Given the description of an element on the screen output the (x, y) to click on. 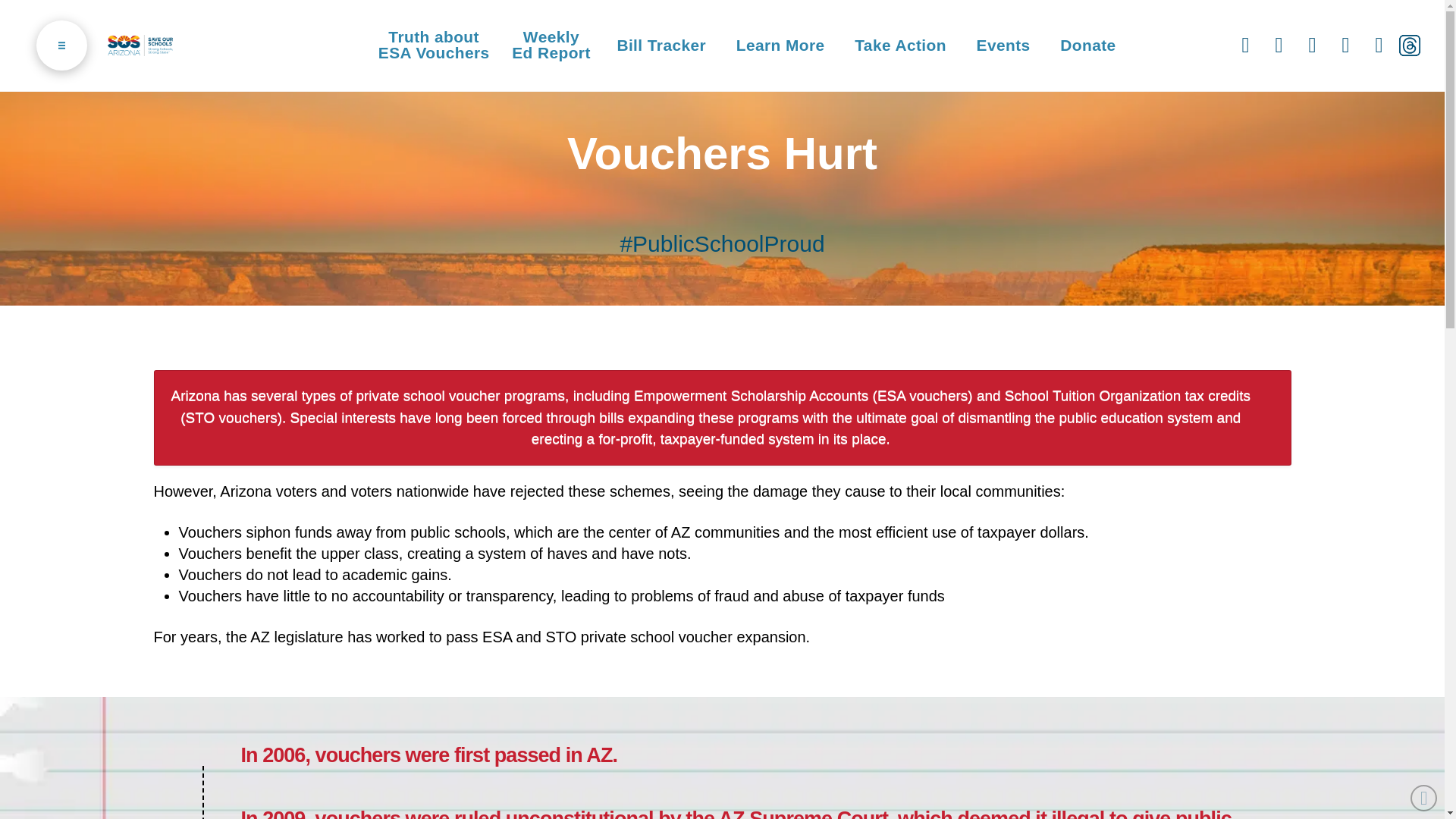
Events (1002, 45)
Take Action (433, 45)
Donate (900, 45)
Bill Tracker (1088, 45)
Learn More (660, 45)
Back to Top (780, 45)
